Given the description of an element on the screen output the (x, y) to click on. 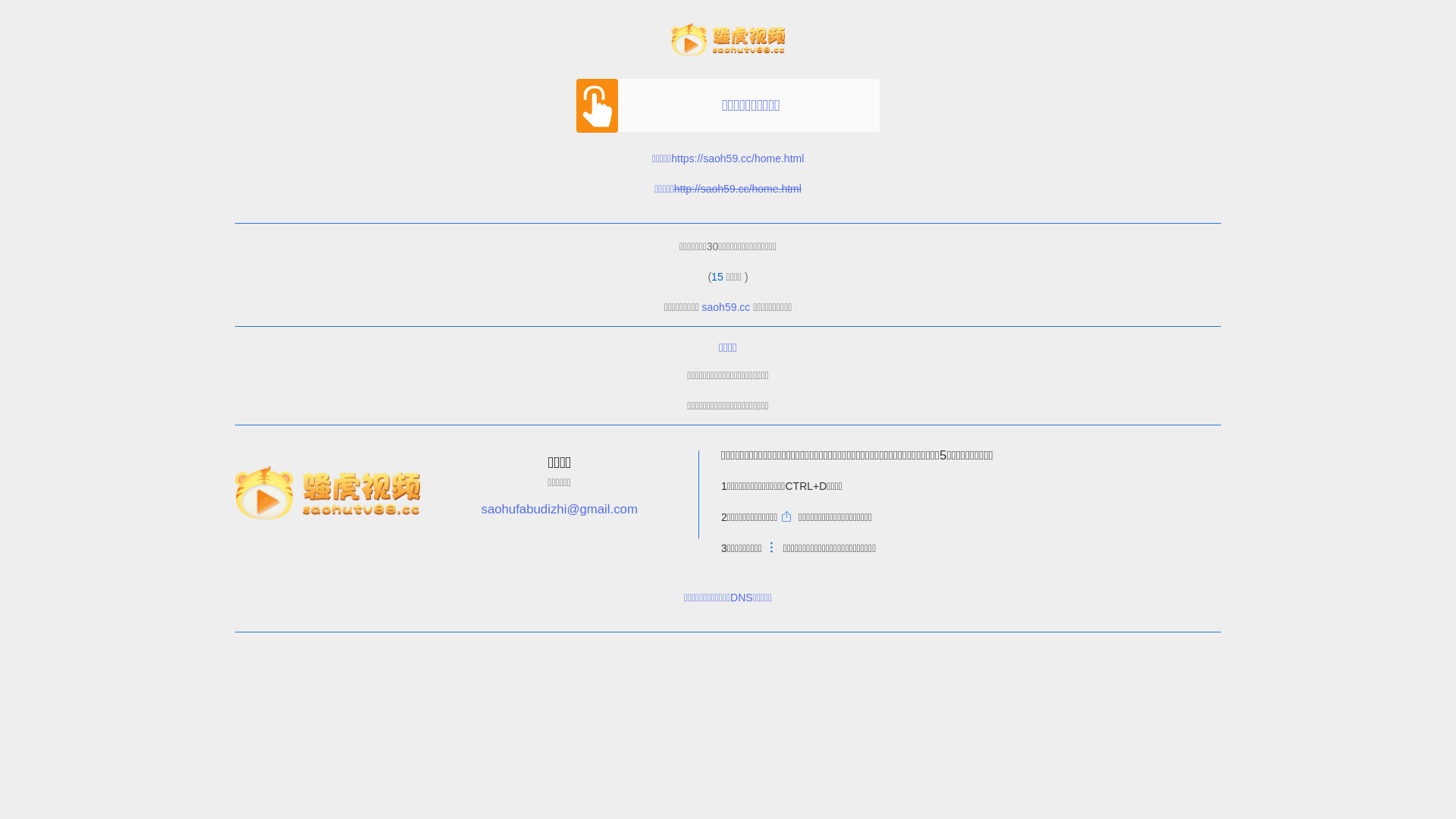
saoh59.cc Element type: text (726, 307)
